Given the description of an element on the screen output the (x, y) to click on. 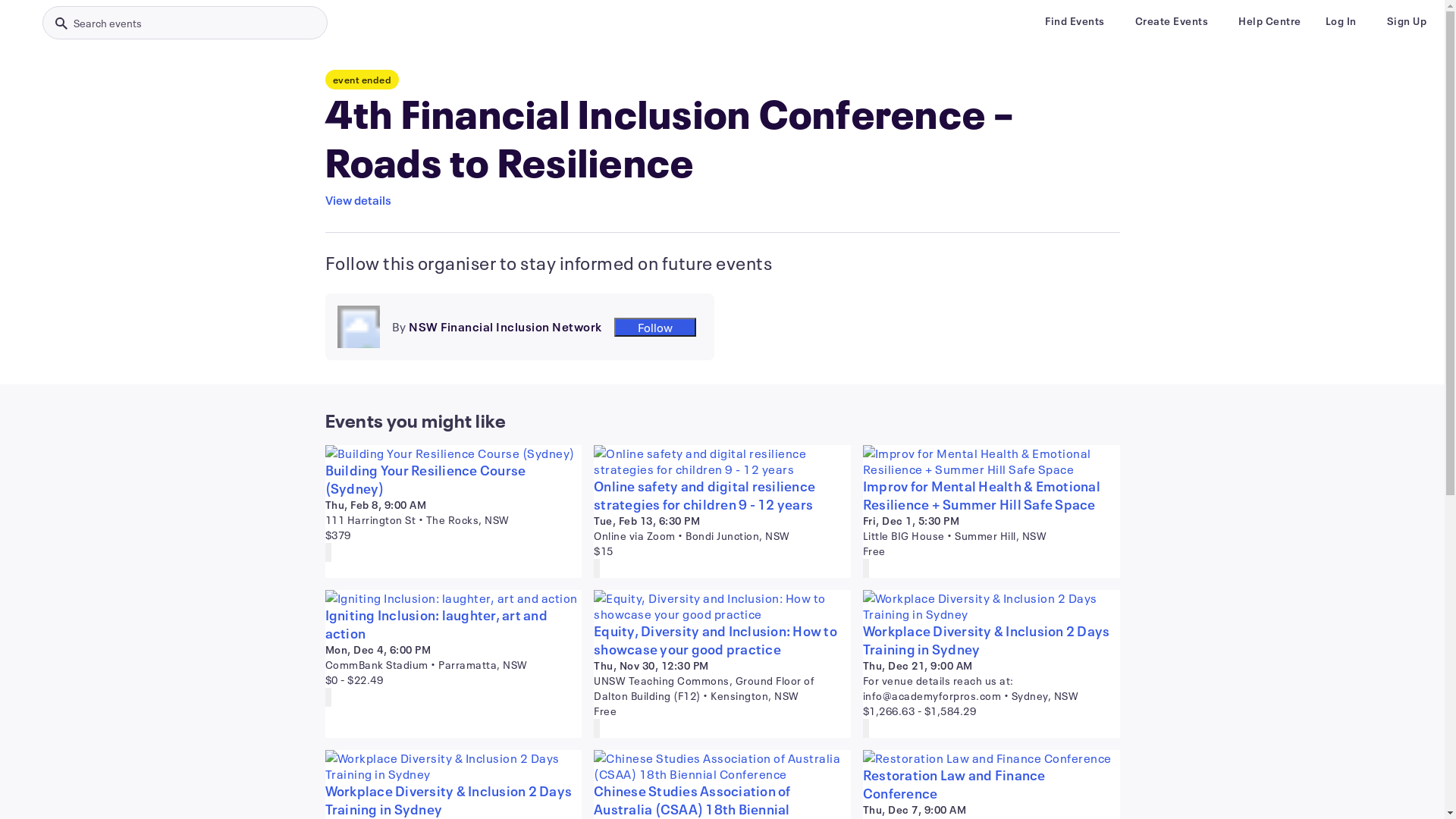
Workplace Diversity & Inclusion 2 Days Training in Sydney Element type: text (991, 639)
Create Events Element type: text (1171, 21)
View details Element type: text (357, 199)
Workplace Diversity & Inclusion 2 Days Training in Sydney Element type: text (452, 799)
Search events Element type: text (184, 22)
Log In Element type: text (1340, 21)
Restoration Law and Finance Conference Element type: text (991, 783)
Find Events Element type: text (1074, 21)
Follow Element type: text (655, 325)
Sign Up Element type: text (1406, 21)
Building Your Resilience Course (Sydney) Element type: text (452, 479)
Igniting Inclusion: laughter, art and action Element type: text (452, 623)
